Given the description of an element on the screen output the (x, y) to click on. 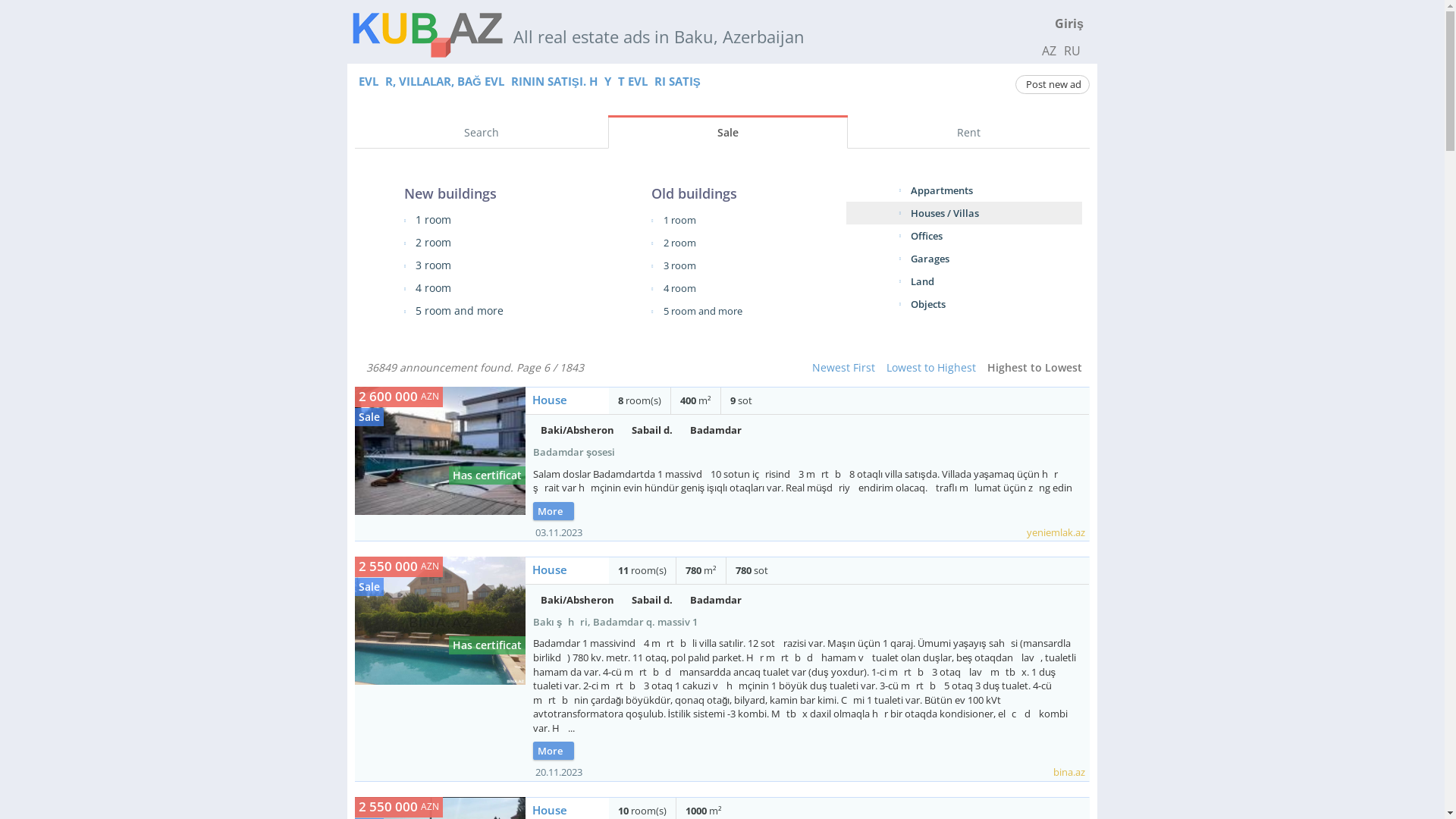
1 room Element type: text (433, 219)
5 room and more Element type: text (702, 310)
2 room Element type: text (679, 242)
Offices Element type: text (926, 235)
Rent Element type: text (968, 132)
Houses / Villas Element type: text (944, 212)
1 room Element type: text (679, 219)
More Element type: text (553, 511)
RU Element type: text (1071, 50)
Post new ad Element type: text (1052, 84)
2 room Element type: text (433, 242)
3 room Element type: text (679, 265)
4 room Element type: text (433, 287)
Sale Element type: text (727, 132)
Lowest to Highest Element type: text (930, 367)
Search Element type: text (481, 132)
5 room and more Element type: text (459, 310)
4 room Element type: text (679, 287)
Objects Element type: text (927, 303)
Land Element type: text (922, 281)
AZ Element type: text (1048, 50)
Appartments Element type: text (941, 190)
3 room Element type: text (433, 264)
More Element type: text (553, 750)
Newest First Element type: text (843, 367)
Garages Element type: text (929, 258)
